Given the description of an element on the screen output the (x, y) to click on. 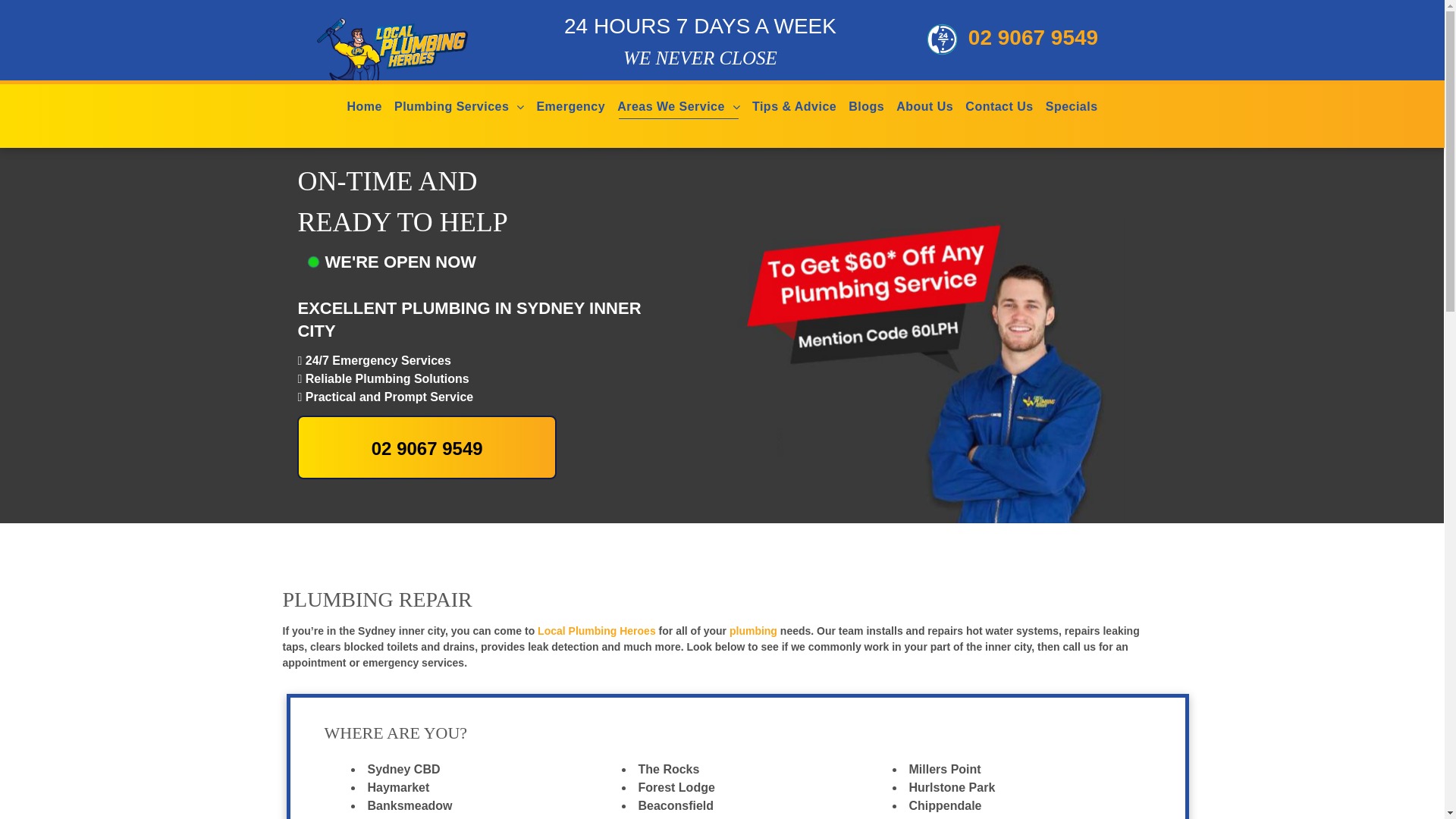
Contact Us Element type: text (998, 106)
Plumbing Services Element type: text (451, 106)
Plumber Sydney Element type: text (439, 46)
Specials Element type: text (1071, 106)
Tips & Advice Element type: text (794, 106)
02 9067 9549 Element type: text (1012, 39)
Blogs Element type: text (866, 106)
About Us Element type: text (924, 106)
Emergency Element type: text (570, 106)
02 9067 9549 Element type: text (426, 447)
Home Element type: text (364, 106)
Areas We Service Element type: text (671, 106)
